Given the description of an element on the screen output the (x, y) to click on. 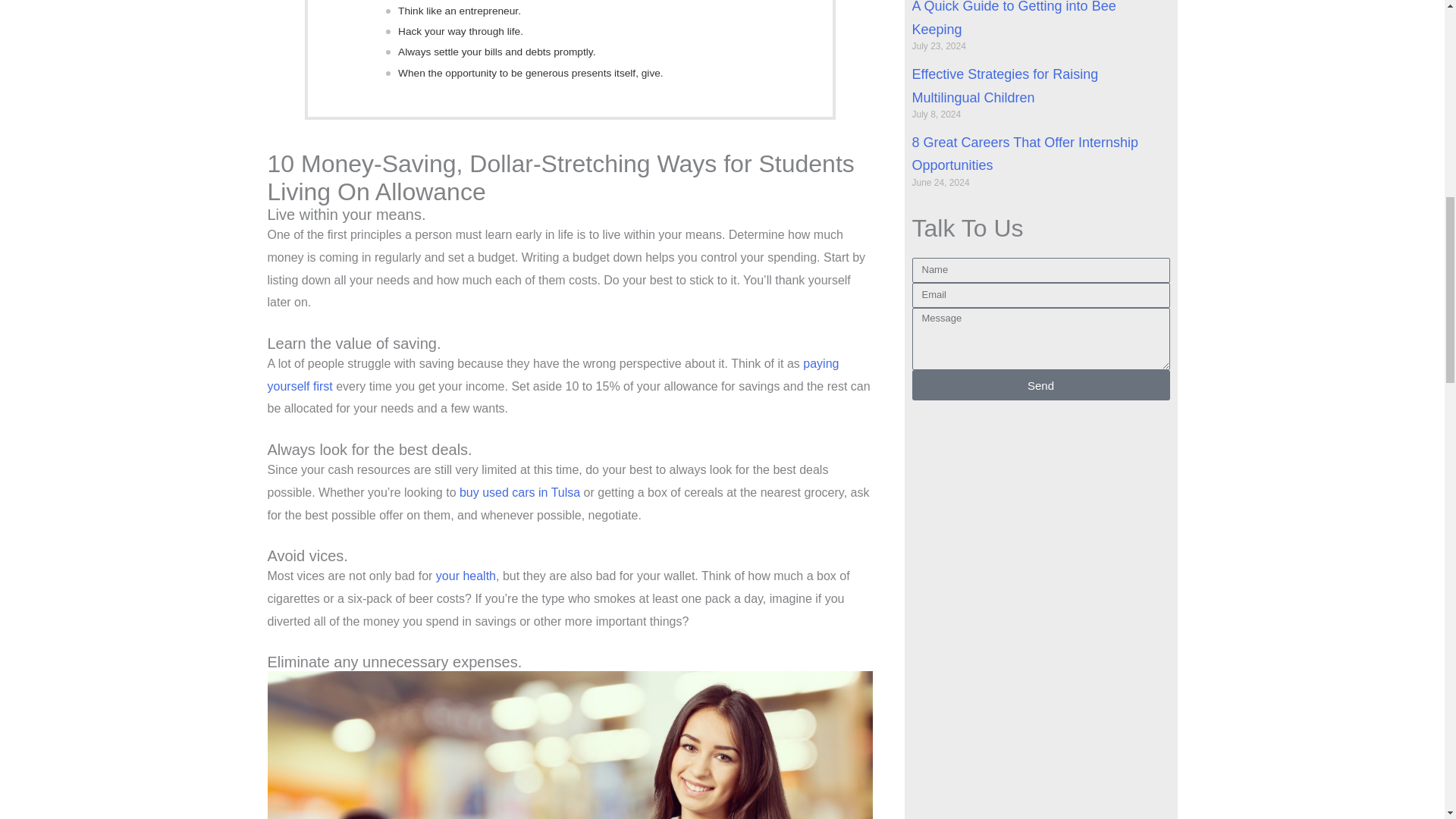
buy used cars in Tulsa (519, 492)
Auto Showcase of Tulsa (519, 492)
paying yourself first (552, 375)
Effective Strategies for Raising Multilingual Children (1004, 85)
your health (465, 575)
When the opportunity to be generous presents itself, give. (530, 73)
Always settle your bills and debts promptly. (496, 51)
8 Great Careers That Offer Internship Opportunities (1024, 154)
Send (1040, 385)
Think like an entrepreneur. (459, 10)
